Given the description of an element on the screen output the (x, y) to click on. 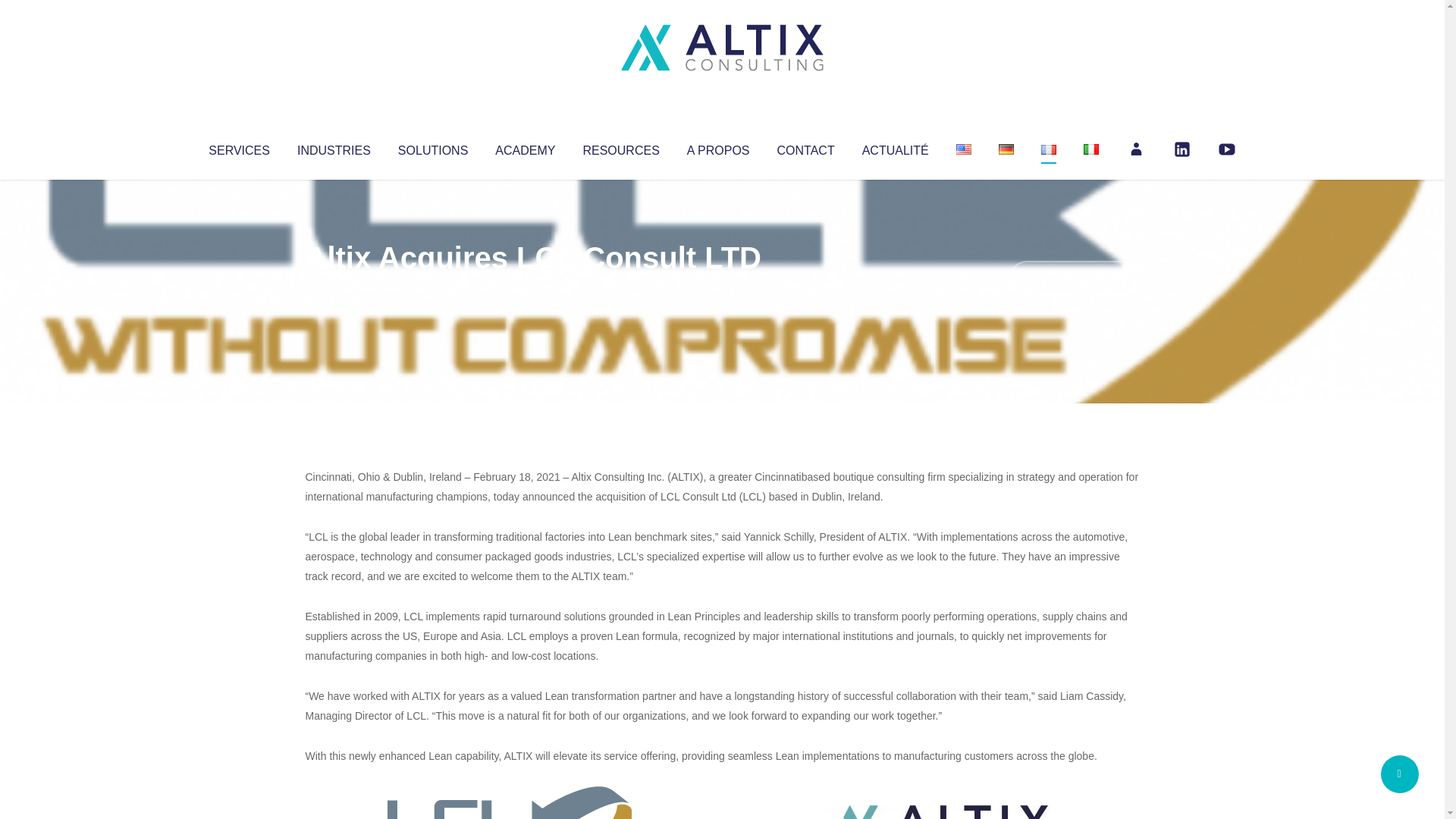
No Comments (1073, 278)
RESOURCES (620, 146)
INDUSTRIES (334, 146)
Altix (333, 287)
ACADEMY (524, 146)
Articles par Altix (333, 287)
SOLUTIONS (432, 146)
SERVICES (238, 146)
A PROPOS (718, 146)
Uncategorized (530, 287)
